Given the description of an element on the screen output the (x, y) to click on. 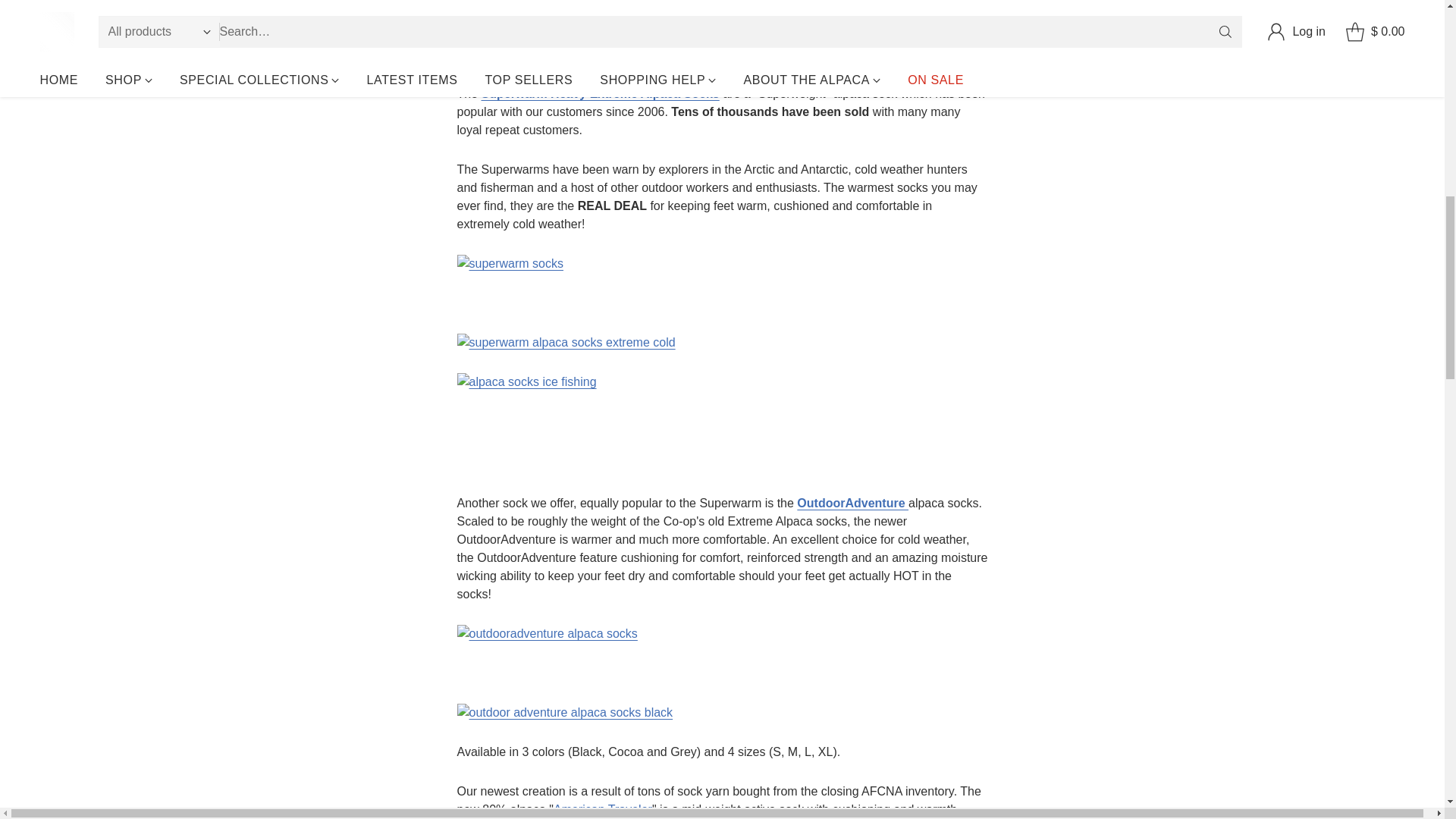
outdoor adventure alpaca socks (852, 502)
american choice alpaca products (898, 35)
superwarm alpaca socks (722, 281)
Superwarm heavy extreme alpaca socks (600, 92)
